Given the description of an element on the screen output the (x, y) to click on. 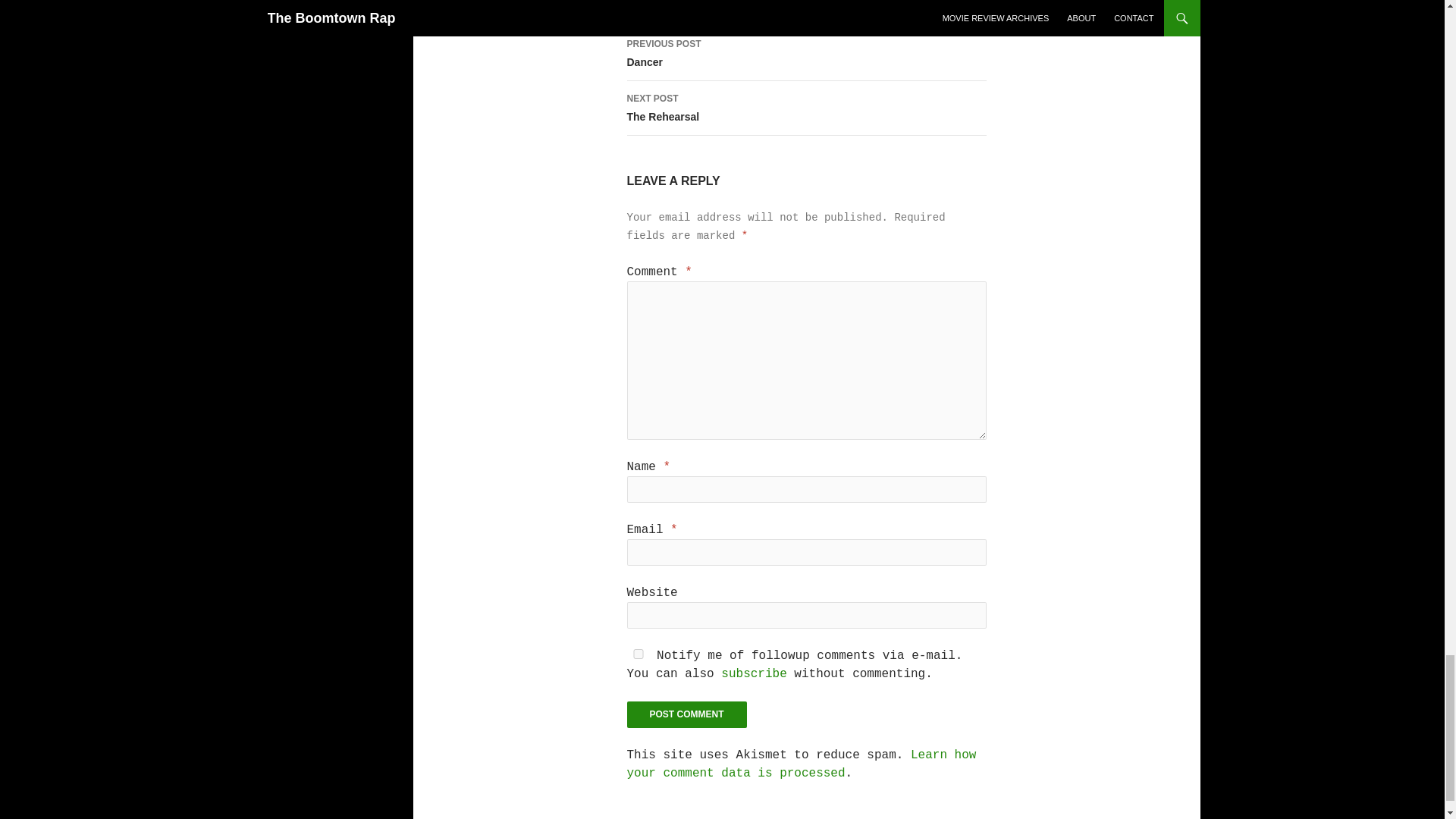
Post Comment (805, 108)
yes (685, 714)
Learn how your comment data is processed (637, 654)
subscribe (800, 764)
Post Comment (753, 673)
